Given the description of an element on the screen output the (x, y) to click on. 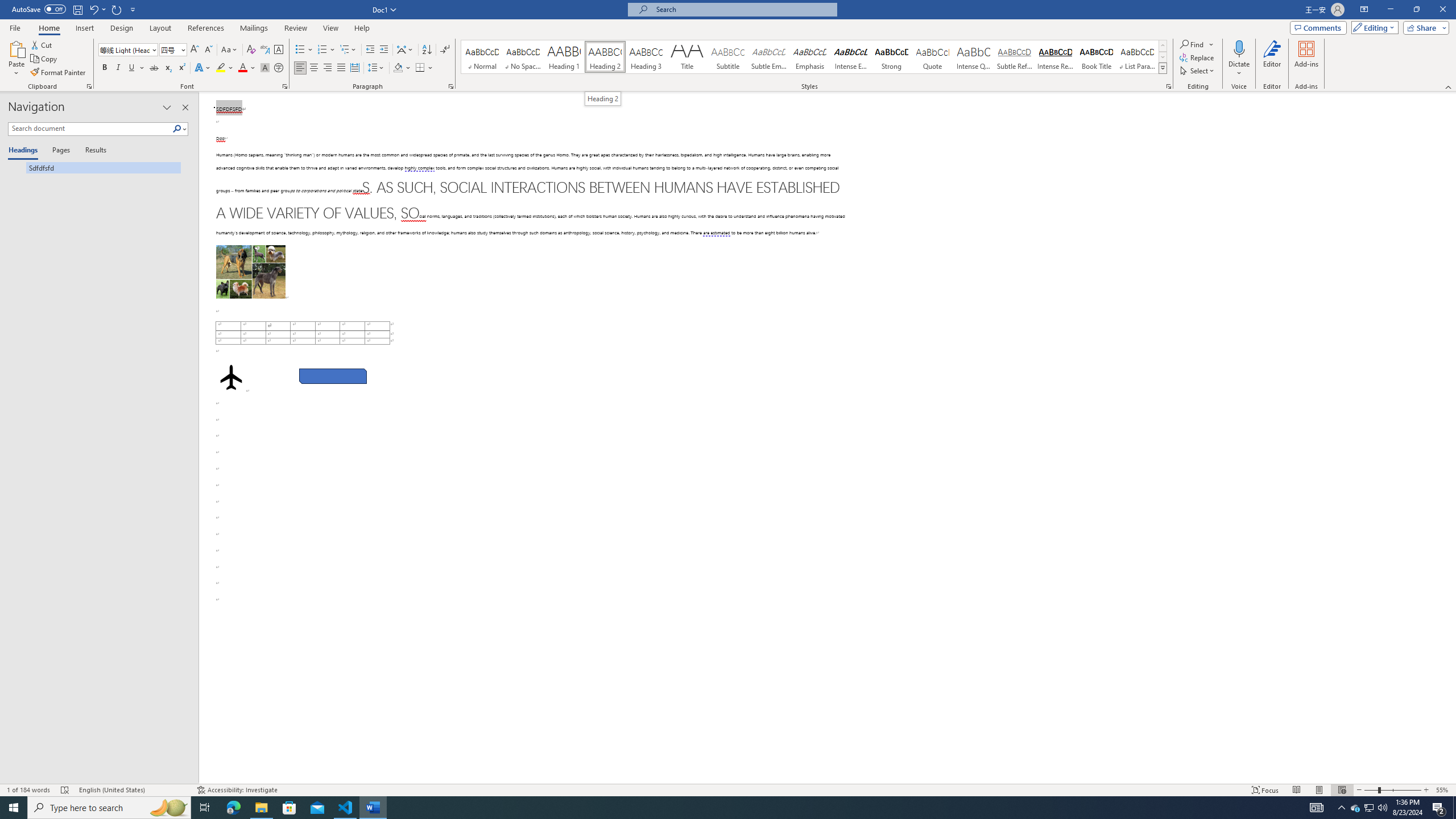
Emphasis (809, 56)
Grow Font (193, 49)
Intense Emphasis (849, 56)
Clear Formatting (250, 49)
Shading RGB(0, 0, 0) (397, 67)
Subtle Emphasis (768, 56)
Font Color Red (241, 67)
Quote (932, 56)
